Given the description of an element on the screen output the (x, y) to click on. 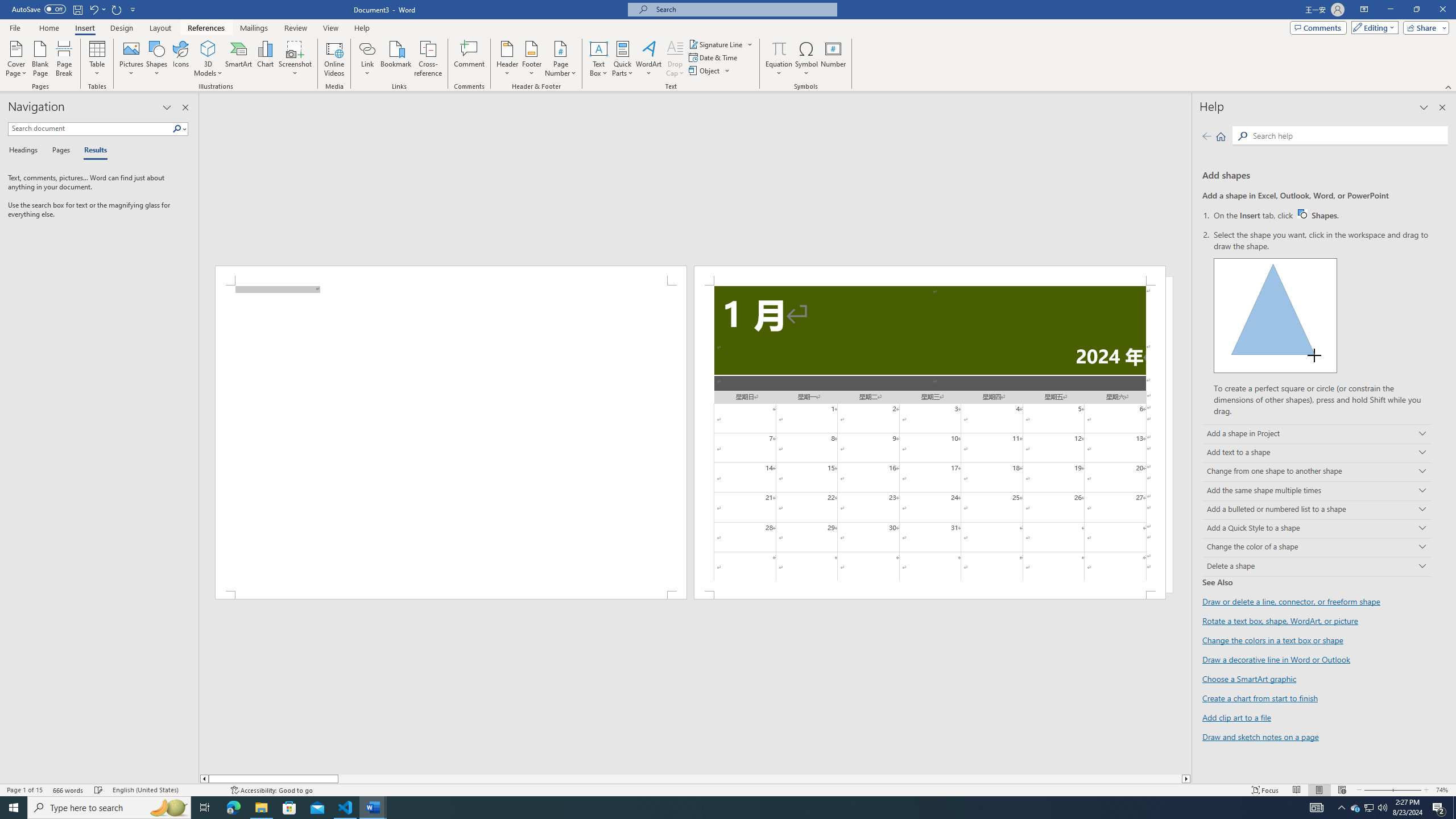
Symbol (806, 58)
Rotate a text box, shape, WordArt, or picture (1280, 620)
Change from one shape to another shape (1316, 471)
Cross-reference... (428, 58)
